Given the description of an element on the screen output the (x, y) to click on. 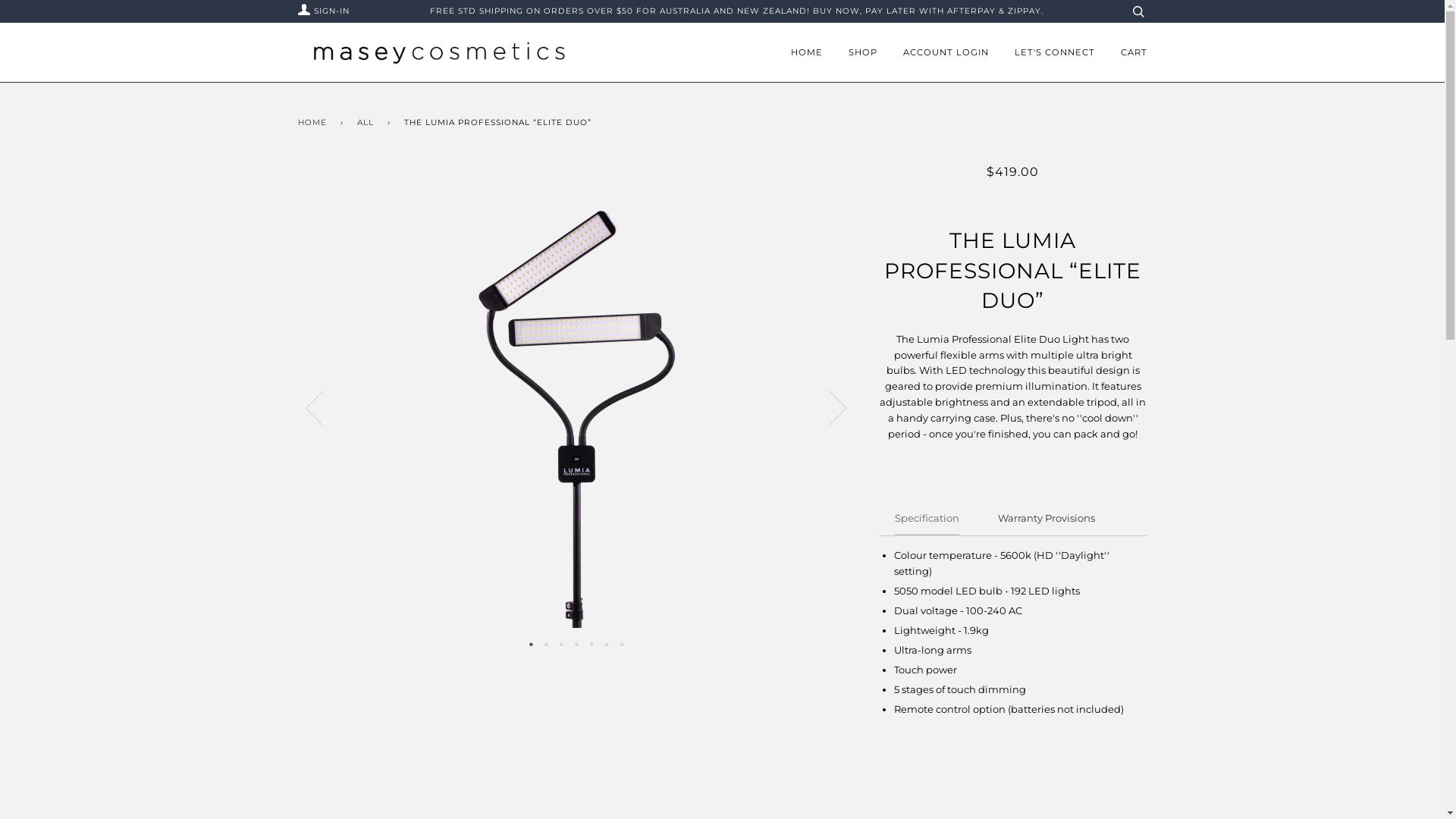
1 Element type: text (531, 642)
Previous Element type: text (322, 407)
ACCOUNT LOGIN Element type: text (945, 51)
SHOP Element type: text (861, 51)
7 Element type: text (622, 642)
6 Element type: text (607, 642)
LET'S CONNECT Element type: text (1054, 51)
CART Element type: text (1133, 51)
HOME Element type: text (806, 51)
4 Element type: text (576, 642)
ALL Element type: text (367, 123)
SIGN-IN Element type: text (321, 11)
3 Element type: text (561, 642)
Next Element type: text (828, 407)
5 Element type: text (591, 642)
2 Element type: text (546, 642)
HOME Element type: text (314, 123)
